Given the description of an element on the screen output the (x, y) to click on. 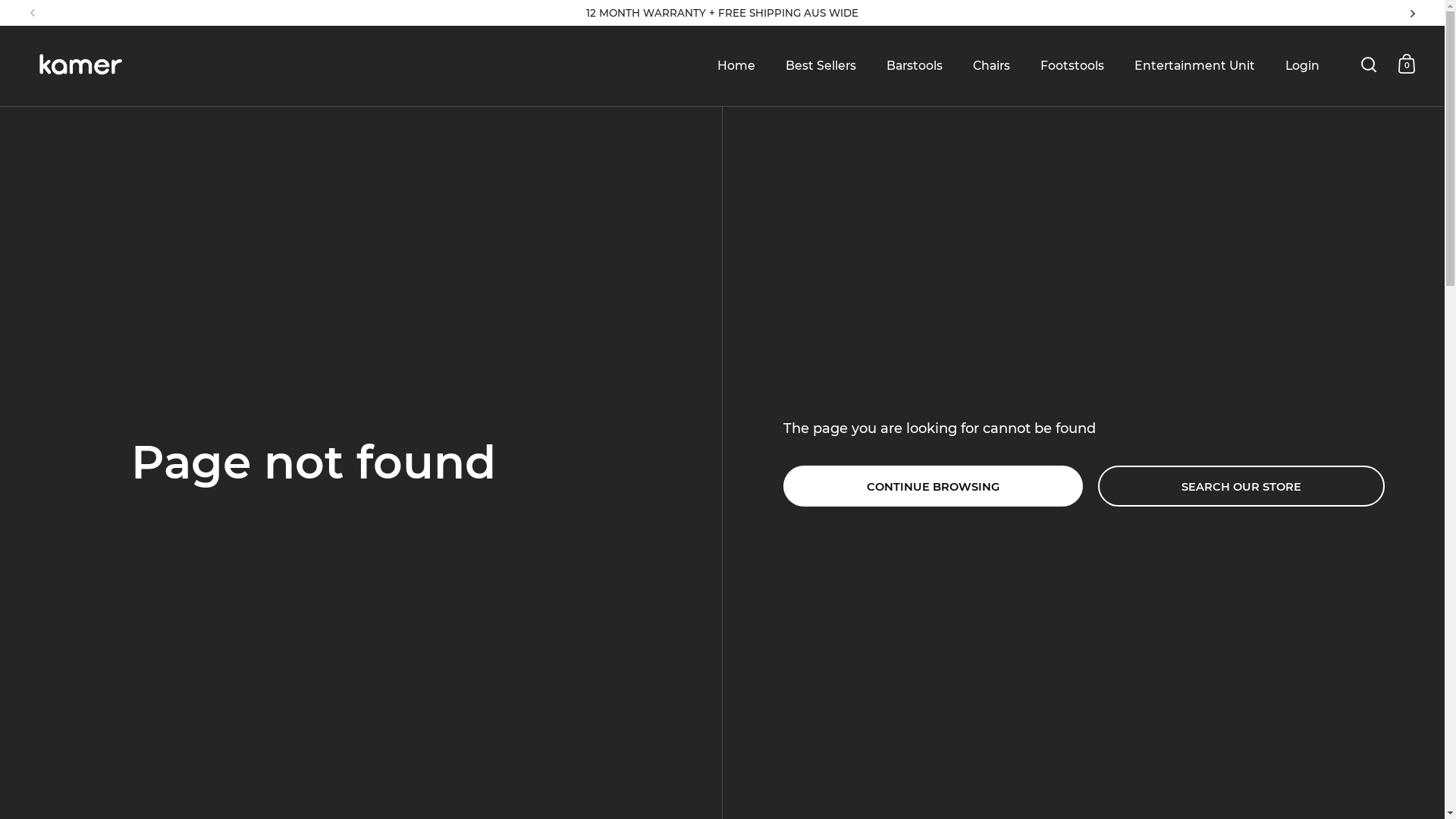
Home Element type: text (736, 65)
0 Element type: text (1406, 63)
Entertainment Unit Element type: text (1194, 65)
Login Element type: text (1302, 65)
Open search< Element type: hover (1368, 64)
Skip to content Element type: text (0, 0)
Footstools Element type: text (1072, 65)
CONTINUE BROWSING Element type: text (932, 485)
SEARCH OUR STORE Element type: text (1241, 485)
Best Sellers Element type: text (820, 65)
Barstools Element type: text (914, 65)
Chairs Element type: text (991, 65)
